Given the description of an element on the screen output the (x, y) to click on. 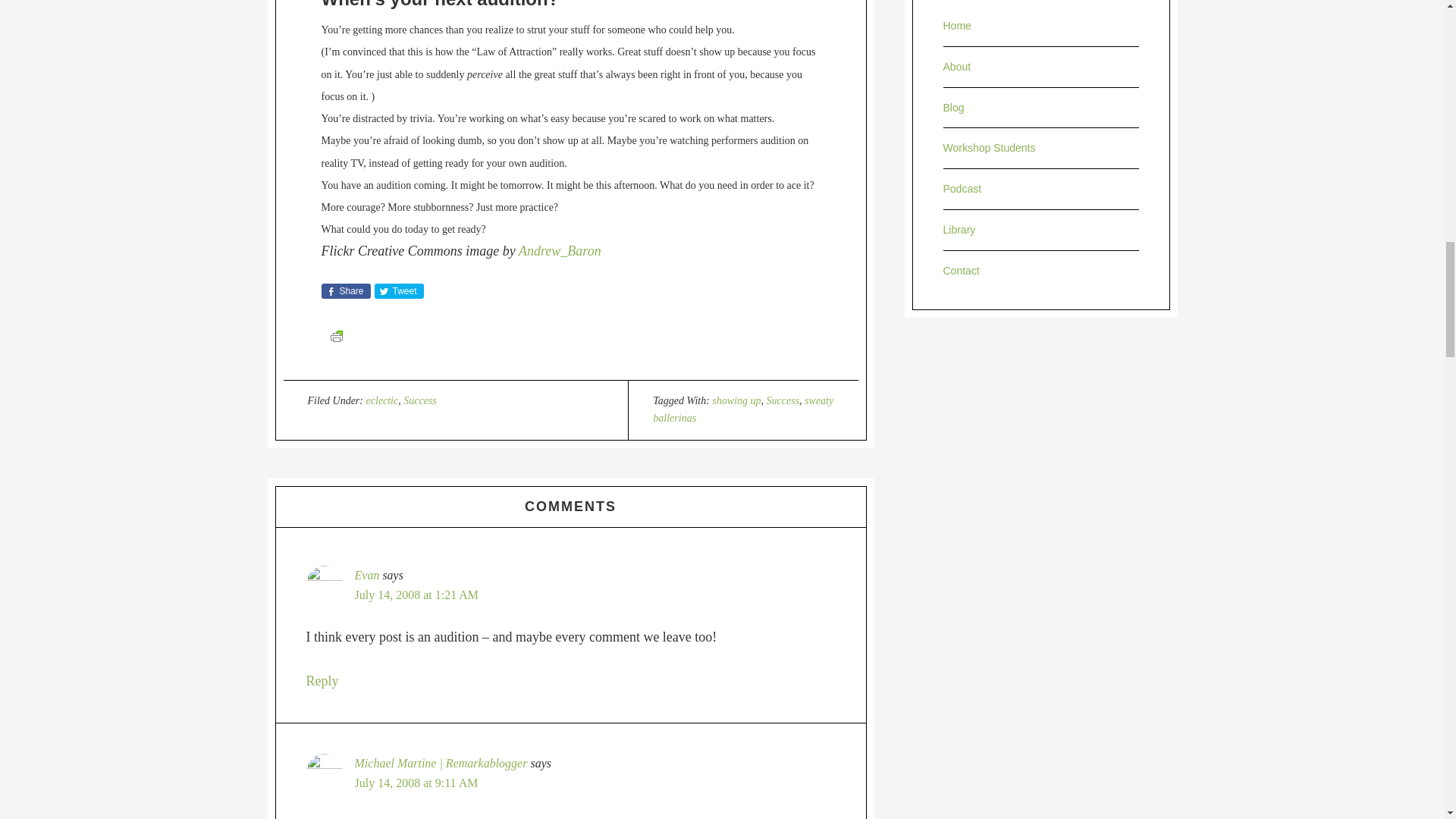
eclectic (381, 400)
July 14, 2008 at 1:21 AM (417, 594)
Share (346, 290)
Success (419, 400)
sweaty ballerinas (742, 409)
Tweet (398, 290)
Success (783, 400)
showing up (735, 400)
Evan (367, 574)
Reply (322, 680)
